Given the description of an element on the screen output the (x, y) to click on. 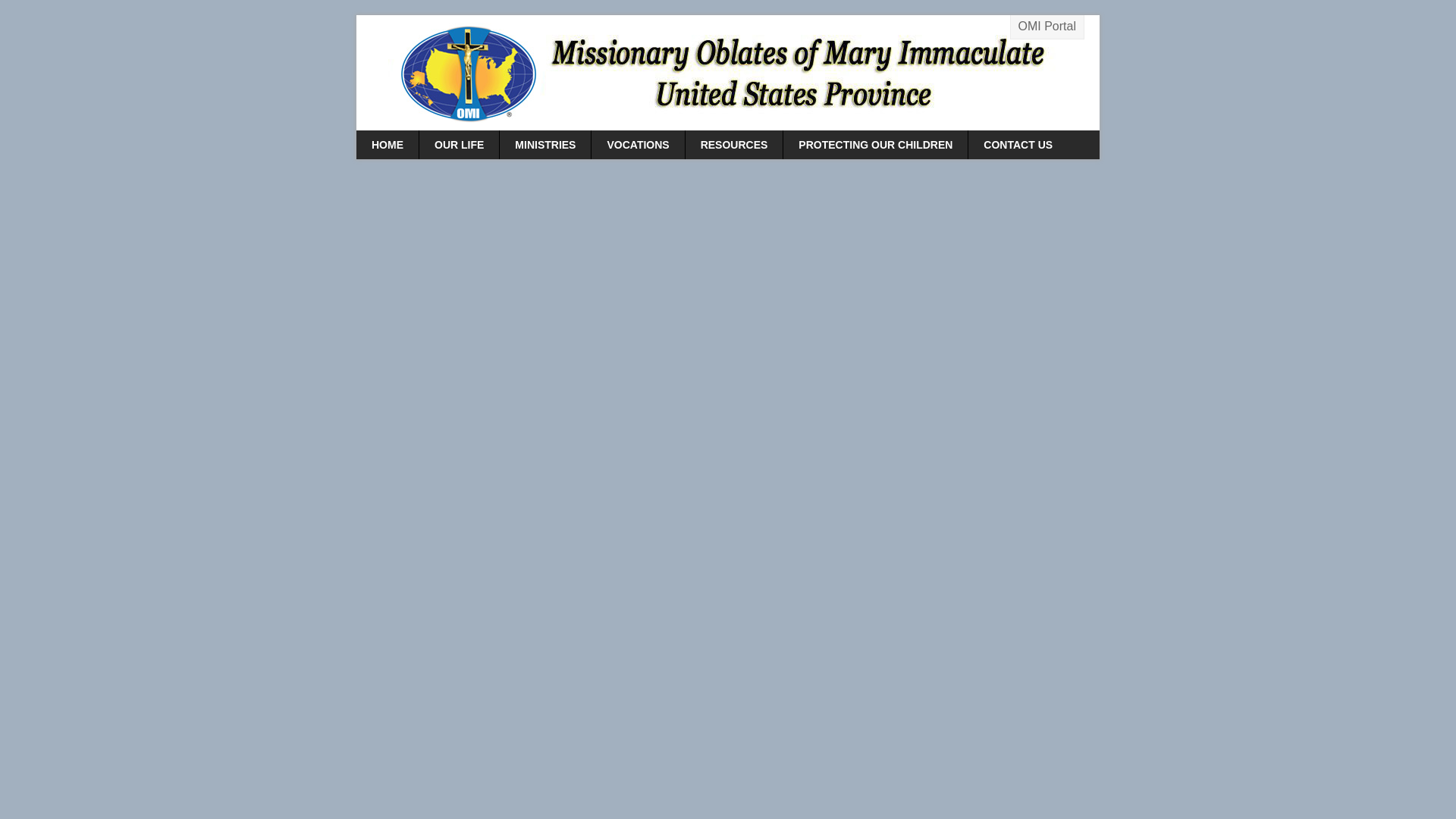
OMIUSA (727, 72)
OMI Portal (1046, 26)
